Given the description of an element on the screen output the (x, y) to click on. 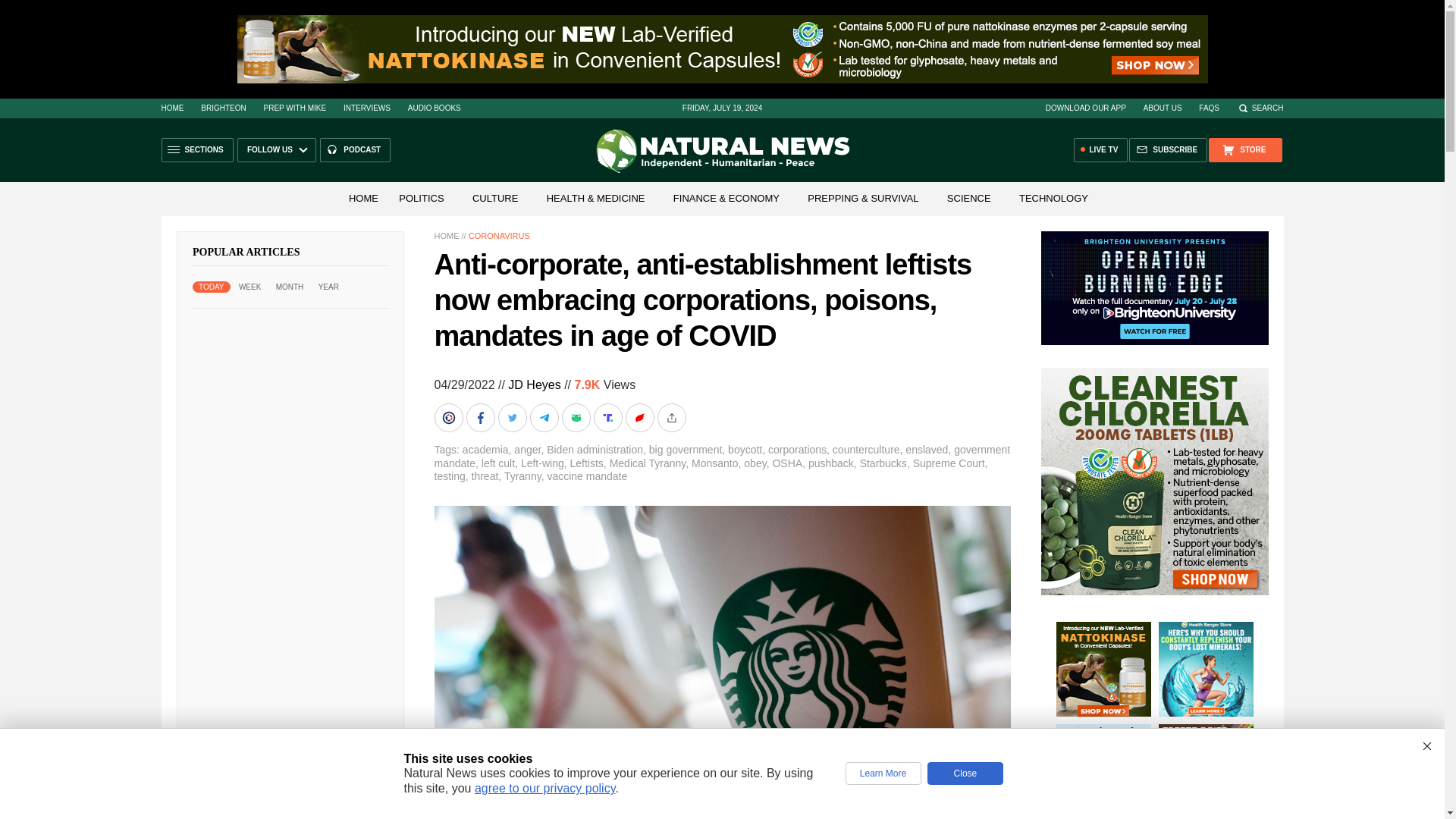
Share on Twitter (513, 417)
Share on GAB (576, 417)
Share on Truth.Social (608, 417)
POLITICS (421, 197)
LIVE TV (1101, 150)
Share on Gettr (640, 417)
SEARCH (1260, 108)
SUBSCRIBE (1168, 150)
FAQS (1209, 108)
HOME (171, 108)
Share on Facebook (481, 417)
PODCAST (355, 150)
STORE (1244, 150)
TECHNOLOGY (1053, 197)
Share on Brighteon.Social (449, 417)
